Given the description of an element on the screen output the (x, y) to click on. 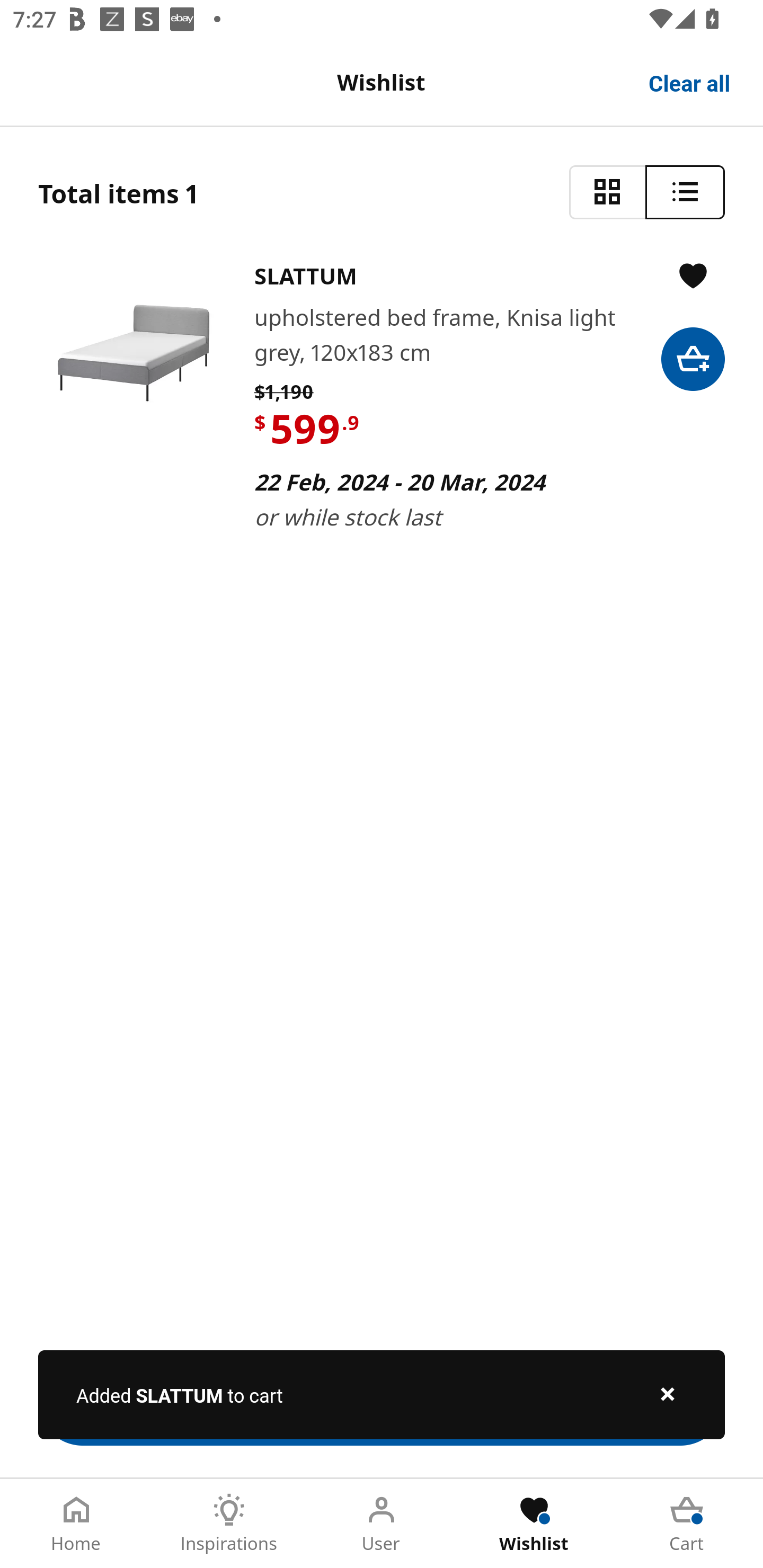
Clear all (689, 81)
Added SLATTUM to cart (381, 1394)
Home
Tab 1 of 5 (76, 1522)
Inspirations
Tab 2 of 5 (228, 1522)
User
Tab 3 of 5 (381, 1522)
Wishlist
Tab 4 of 5 (533, 1522)
Cart
Tab 5 of 5 (686, 1522)
